Given the description of an element on the screen output the (x, y) to click on. 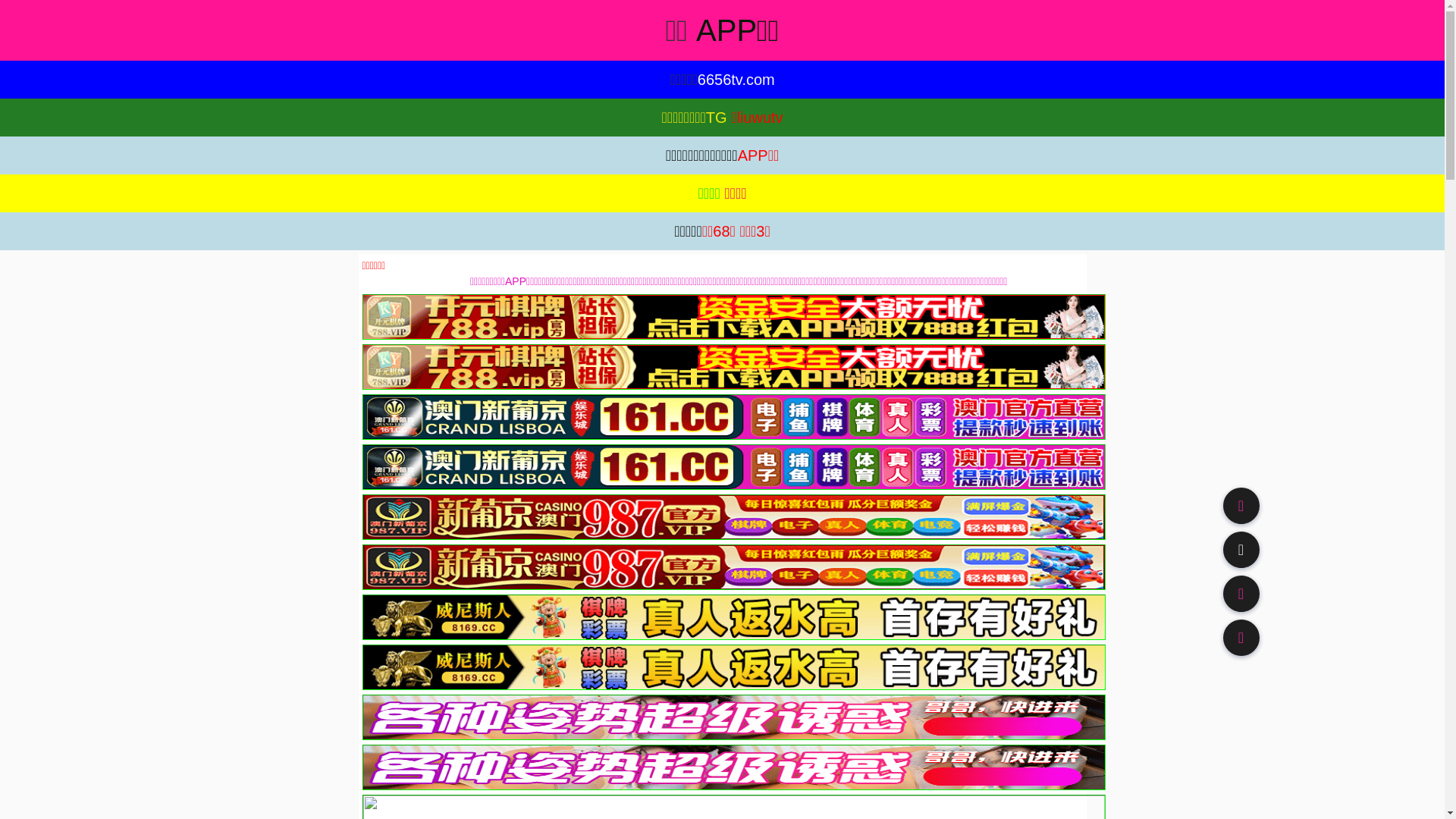
91TV Element type: hover (1240, 593)
